Given the description of an element on the screen output the (x, y) to click on. 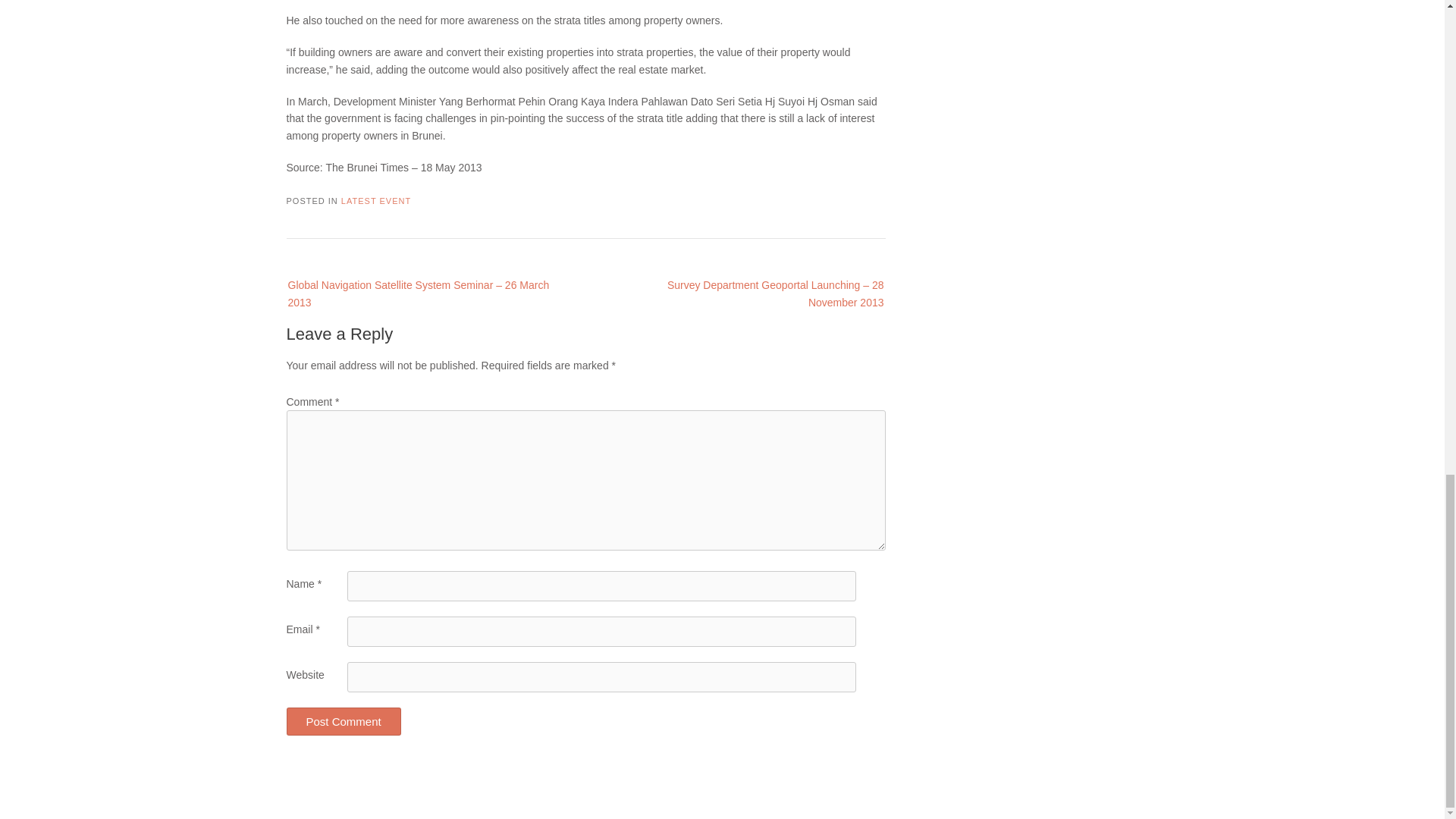
Post Comment (343, 721)
LATEST EVENT (375, 200)
Post Comment (343, 721)
